Given the description of an element on the screen output the (x, y) to click on. 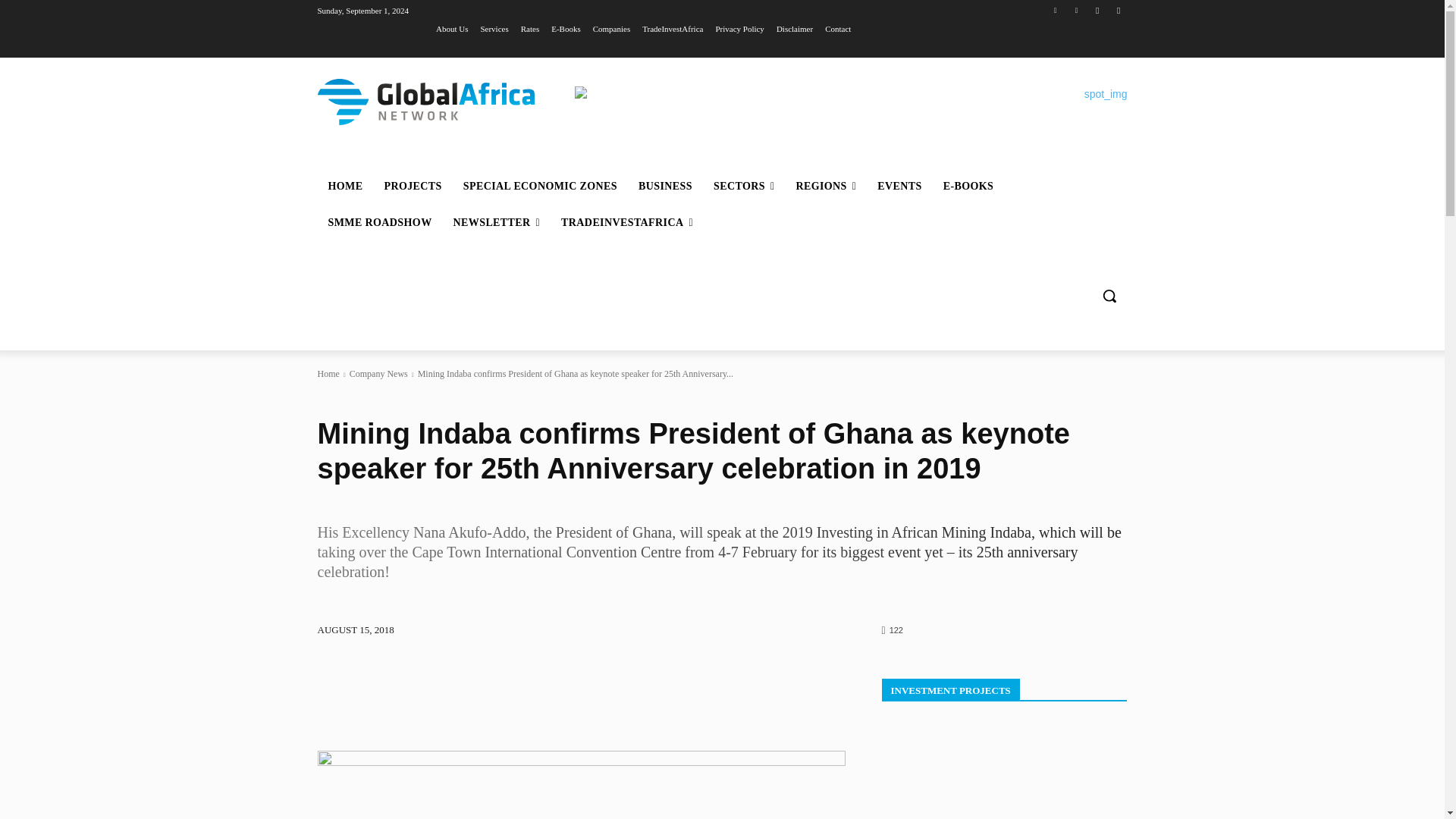
View all posts in Company News (378, 373)
Twitter (1055, 9)
Facebook (1097, 9)
Youtube (1117, 9)
Linkedin (1075, 9)
